Given the description of an element on the screen output the (x, y) to click on. 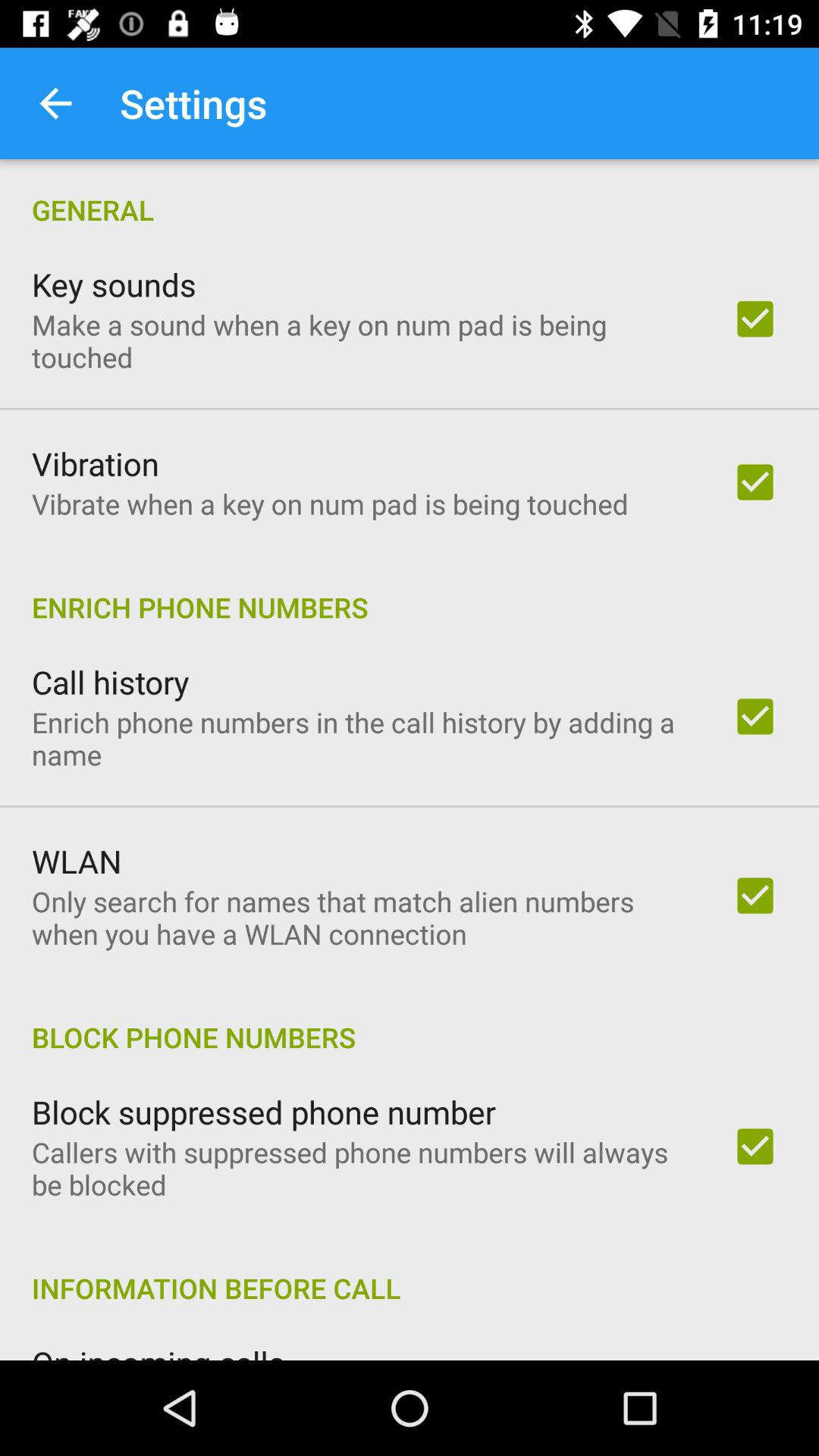
open the information before call item (409, 1271)
